Given the description of an element on the screen output the (x, y) to click on. 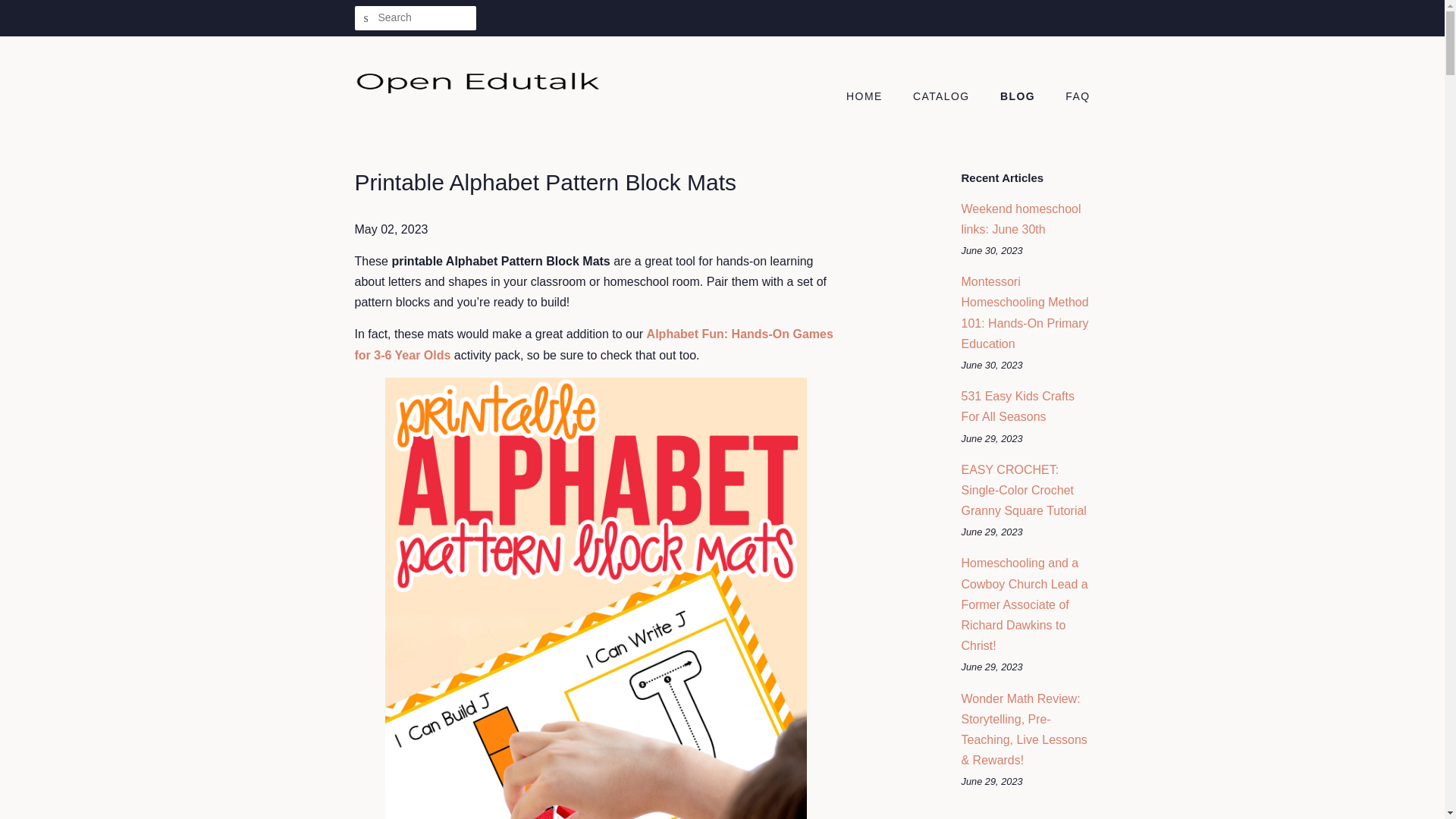
BLOG (1018, 96)
HOME (871, 96)
531 Easy Kids Crafts For All Seasons (1017, 406)
CATALOG (943, 96)
SEARCH (366, 18)
Alphabet Fun: Hands-On Games for 3-6 Year Olds (593, 344)
EASY CROCHET: Single-Color Crochet Granny Square Tutorial (1023, 489)
Weekend homeschool links: June 30th (1020, 218)
